Given the description of an element on the screen output the (x, y) to click on. 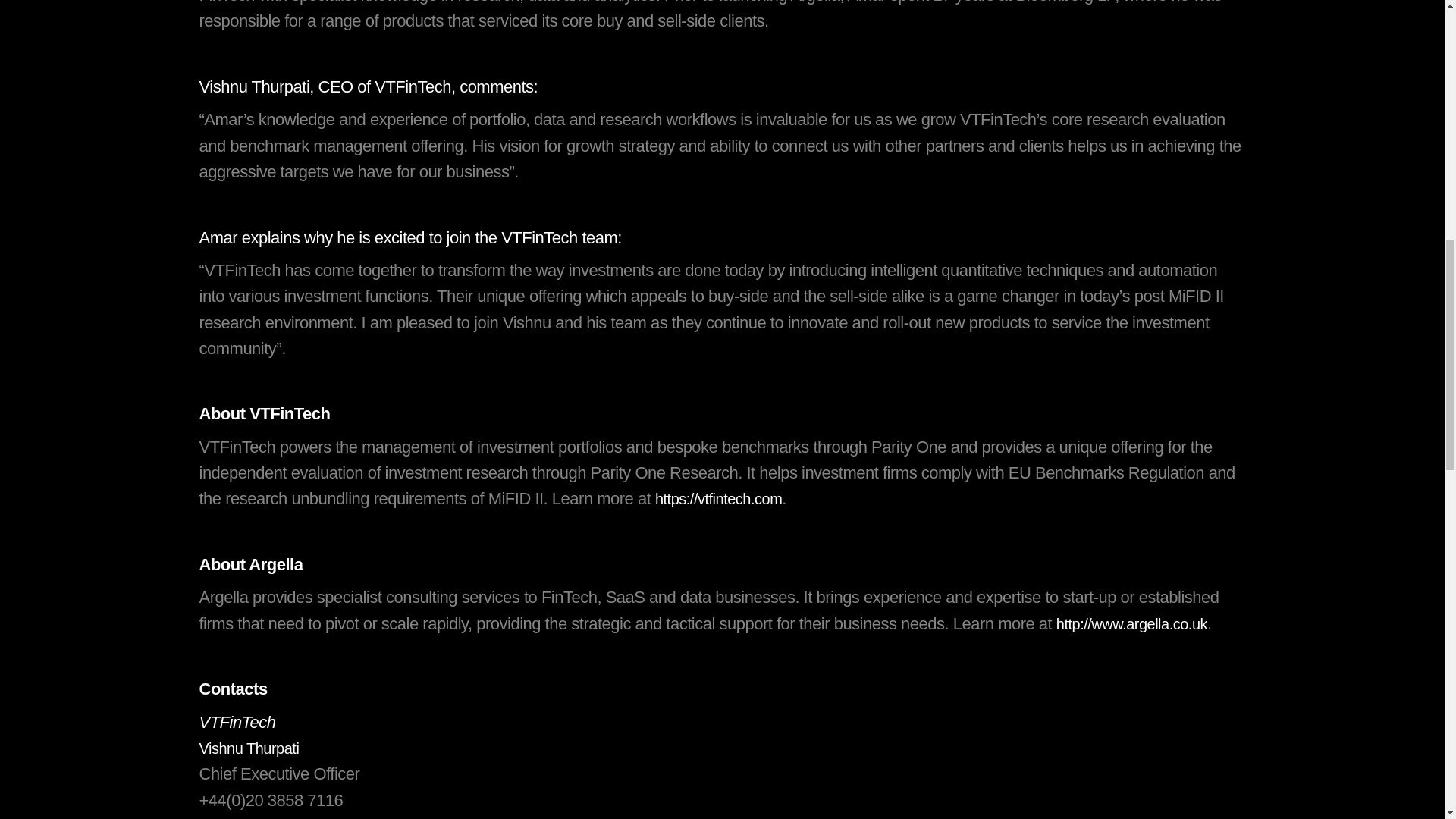
Vishnu Thurpati (248, 748)
